Given the description of an element on the screen output the (x, y) to click on. 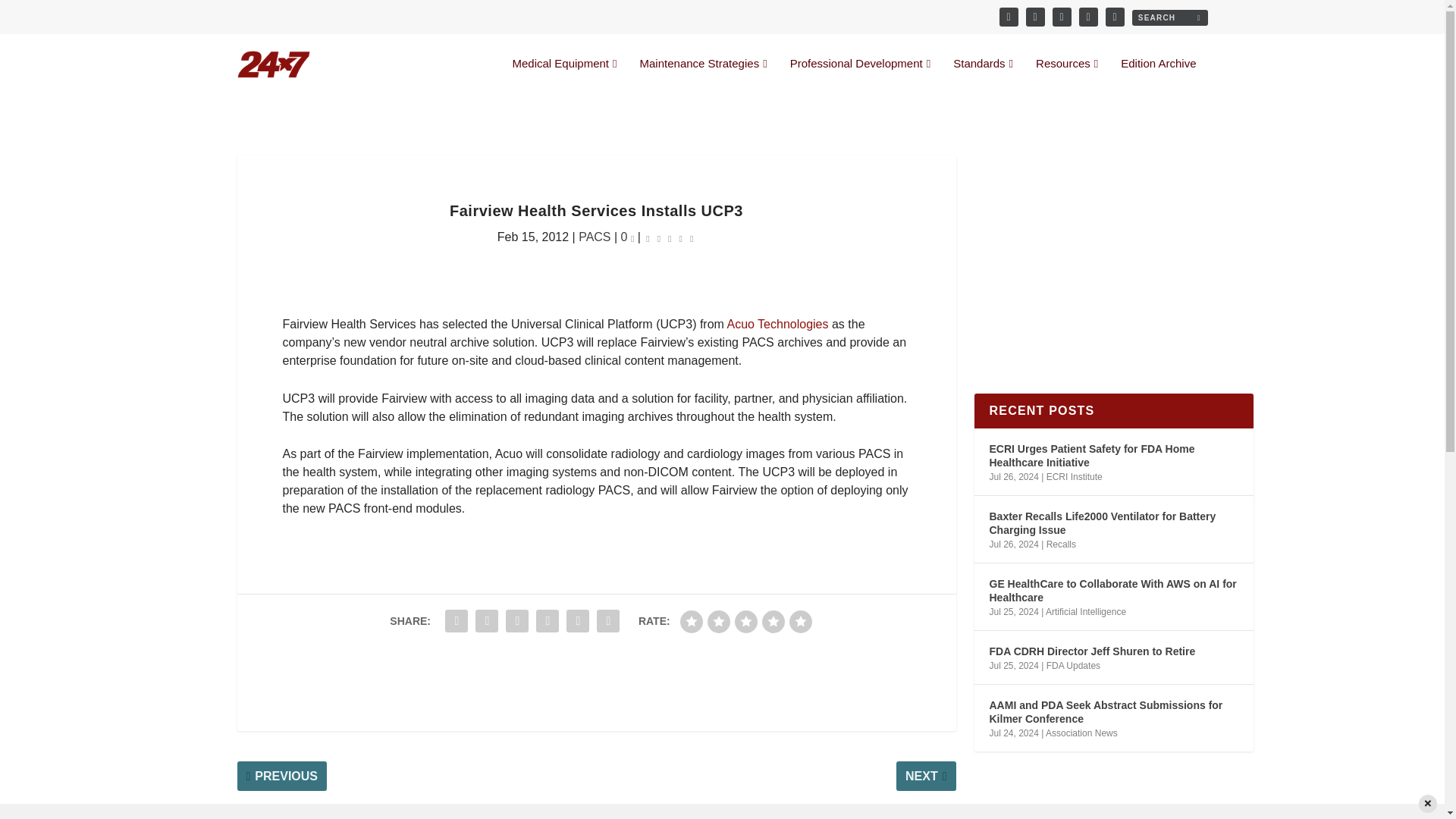
Maintenance Strategies (703, 76)
bad (691, 621)
Share "Fairview Health Services Installs UCP3" via LinkedIn (547, 621)
Rating: 0.00 (669, 237)
good (772, 621)
Share "Fairview Health Services Installs UCP3" via Email (577, 621)
gorgeous (800, 621)
Share "Fairview Health Services Installs UCP3" via Twitter (486, 621)
regular (746, 621)
Professional Development (860, 76)
Search for: (1169, 17)
3rd party ad content (596, 681)
Resources (1066, 76)
Share "Fairview Health Services Installs UCP3" via Facebook (456, 621)
Medical Equipment (563, 76)
